Given the description of an element on the screen output the (x, y) to click on. 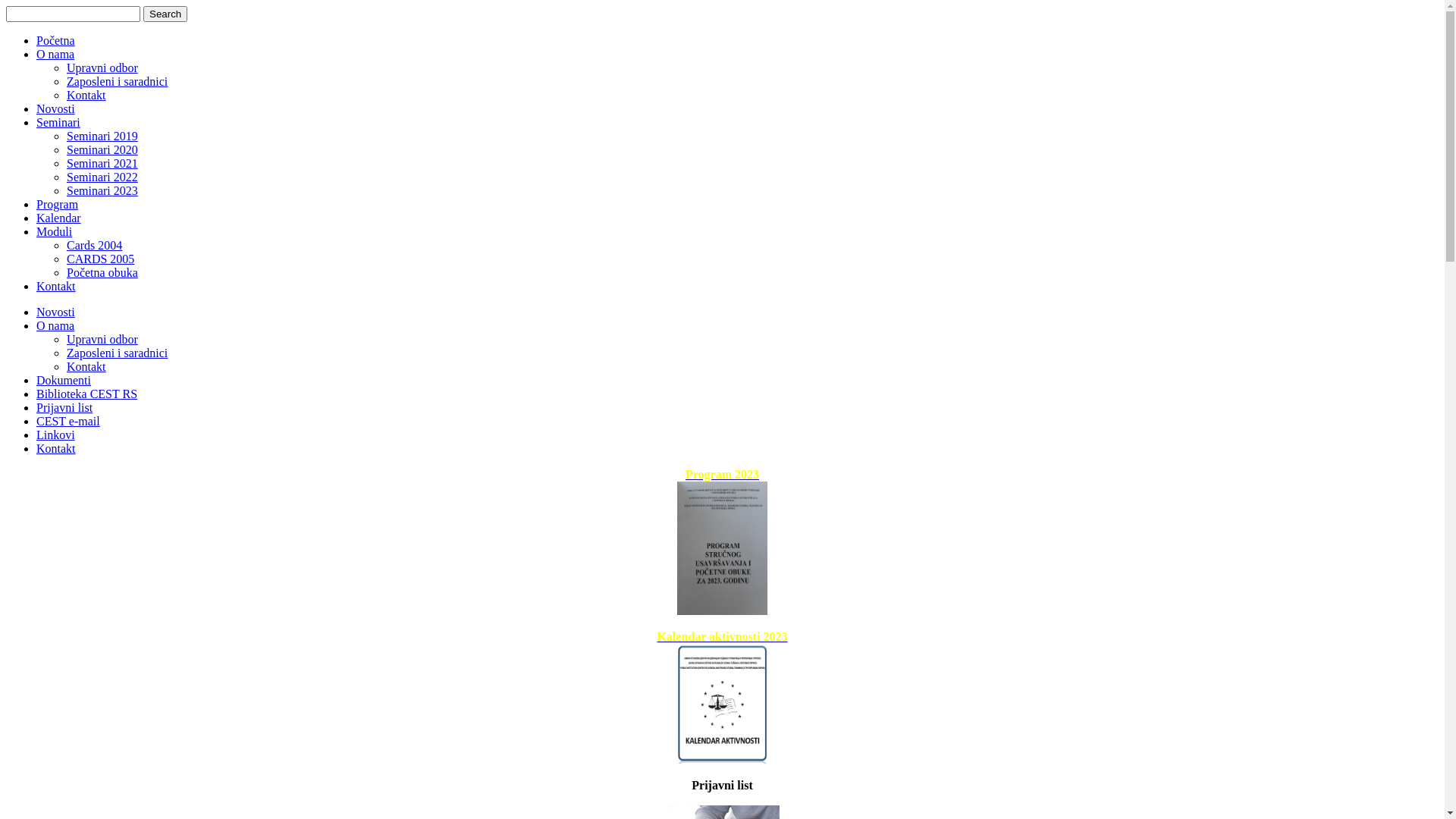
Seminari Element type: text (58, 122)
Moduli Element type: text (54, 231)
Dokumenti Element type: text (63, 379)
Kalendar aktivnosti 2023 Element type: text (721, 636)
Prijavni list Element type: text (64, 407)
Seminari 2020 Element type: text (102, 149)
CARDS 2005 Element type: text (100, 258)
Novosti Element type: text (55, 311)
Kalendar Element type: text (58, 217)
Linkovi Element type: text (55, 434)
Zaposleni i saradnici Element type: text (116, 352)
Program 2023 Element type: text (722, 473)
Seminari 2021 Element type: text (102, 162)
Seminari 2019 Element type: text (102, 135)
O nama Element type: text (55, 53)
Kontakt Element type: text (86, 366)
CEST e-mail Element type: text (68, 420)
Upravni odbor Element type: text (102, 67)
Upravni odbor Element type: text (102, 338)
Cards 2004 Element type: text (94, 244)
Kontakt Element type: text (55, 448)
Program Element type: text (57, 203)
Novosti Element type: text (55, 108)
Seminari 2022 Element type: text (102, 176)
Kontakt Element type: text (86, 94)
Kontakt Element type: text (55, 285)
Search Element type: text (165, 13)
Zaposleni i saradnici Element type: text (116, 81)
O nama Element type: text (55, 325)
Seminari 2023 Element type: text (102, 190)
Biblioteka CEST RS Element type: text (86, 393)
